Given the description of an element on the screen output the (x, y) to click on. 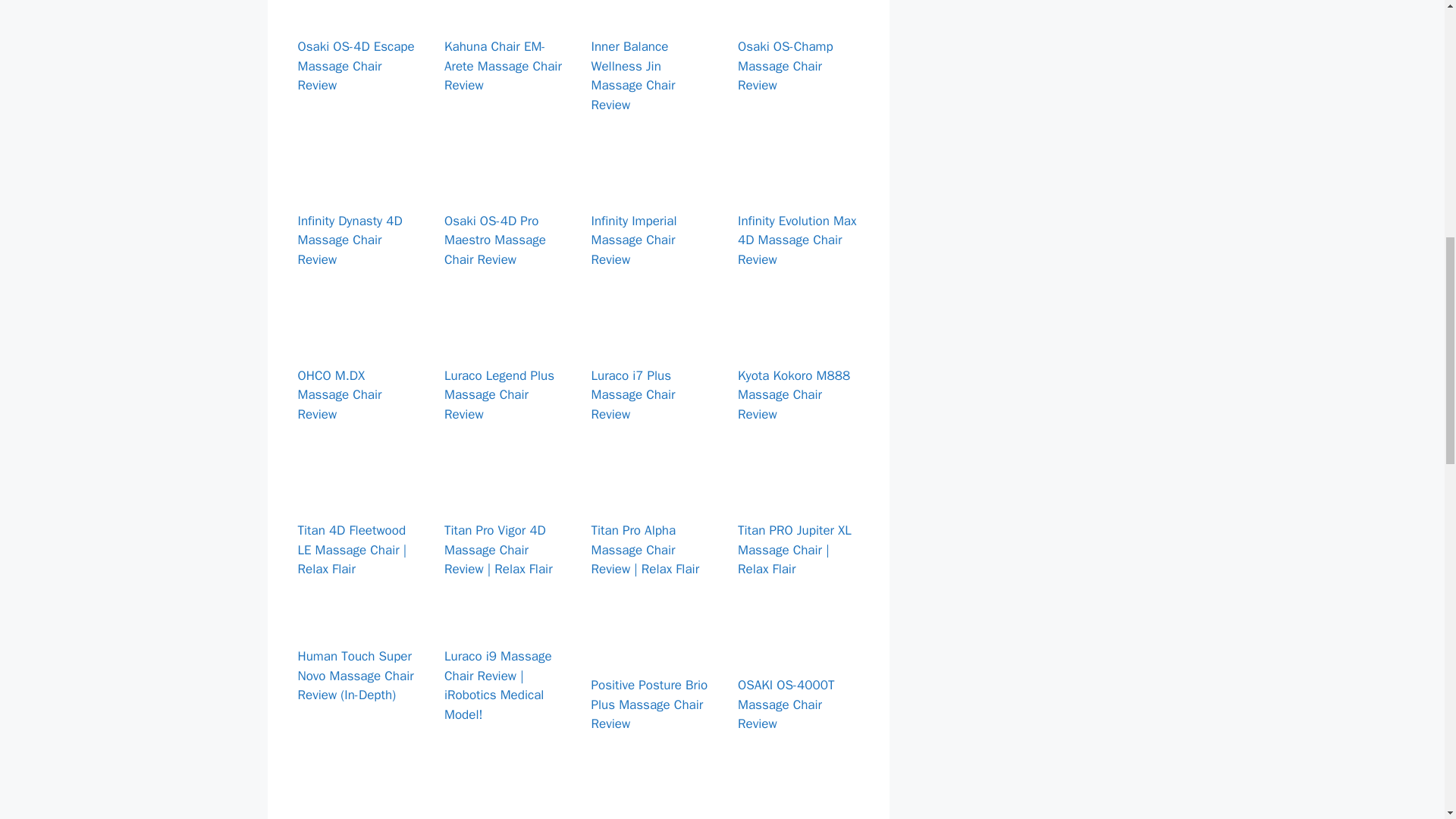
Luraco Legend Plus Massage Chair Review (505, 342)
Osaki OS-Champ Massage Chair Review (798, 13)
Luraco i7 Plus Massage Chair Review (652, 342)
Infinity Dynasty 4D Massage Chair Review (358, 188)
OHCO M.DX Massage Chair Review (358, 342)
Kahuna Chair EM-Arete Massage Chair Review (503, 65)
Osaki OS-4D Escape Massage Chair Review (358, 13)
Osaki OS-4D Pro Maestro Massage Chair Review (505, 188)
Infinity Imperial Massage Chair Review (652, 188)
Kahuna Chair EM-Arete Massage Chair Review (505, 13)
